Given the description of an element on the screen output the (x, y) to click on. 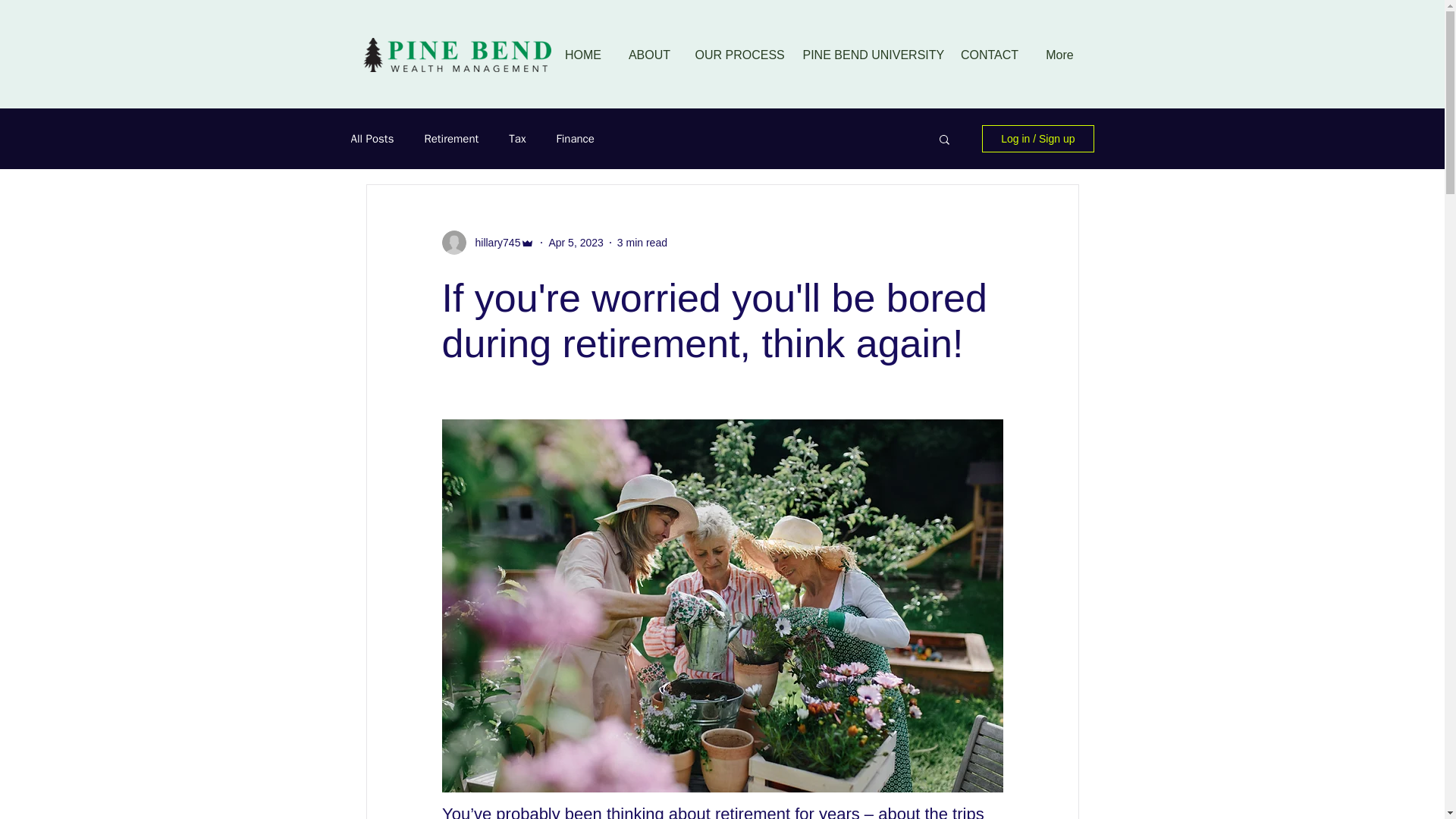
PINE BEND UNIVERSITY (869, 55)
hillary745 (492, 242)
CONTACT (989, 55)
All Posts (371, 138)
3 min read (641, 242)
Retirement (451, 138)
HOME (582, 55)
Apr 5, 2023 (575, 242)
OUR PROCESS (738, 55)
ABOUT (649, 55)
